Given the description of an element on the screen output the (x, y) to click on. 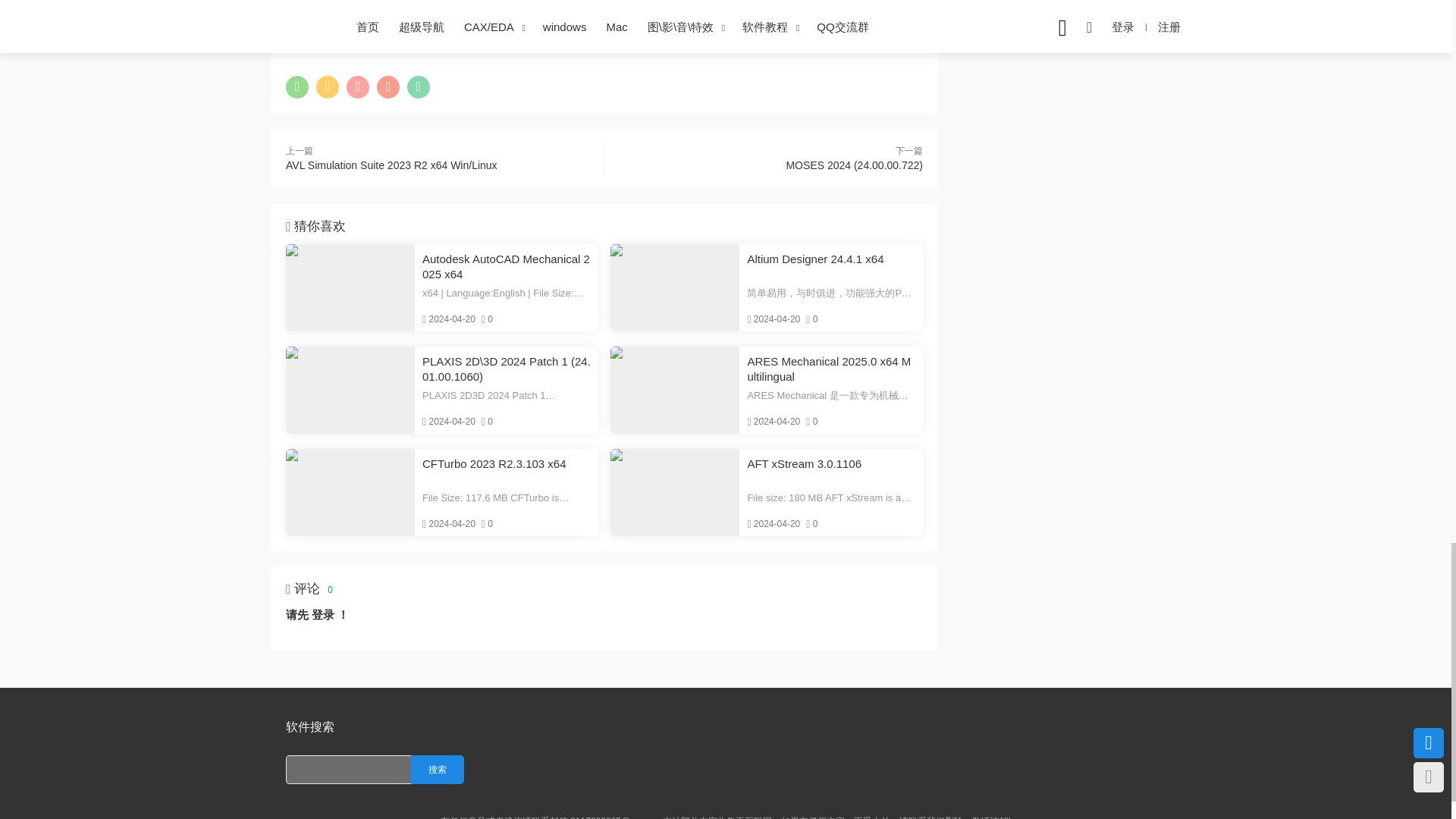
AFT xStream 3.0.1106 (831, 471)
CFTurbo 2023 R2.3.103 x64 (507, 471)
ARES Mechanical 2025.0 x64 Multilingual (674, 390)
CFTurbo 2023 R2.3.103 x64 (349, 492)
ARES Mechanical 2025.0 x64 Multilingual (831, 368)
Autodesk AutoCAD Mechanical 2025 x64 (349, 287)
Autodesk AutoCAD Mechanical 2025 x64 (507, 266)
Altium Designer 24.4.1 x64 (674, 287)
Altium Designer 24.4.1 x64 (831, 266)
AFT xStream 3.0.1106 (674, 492)
